Given the description of an element on the screen output the (x, y) to click on. 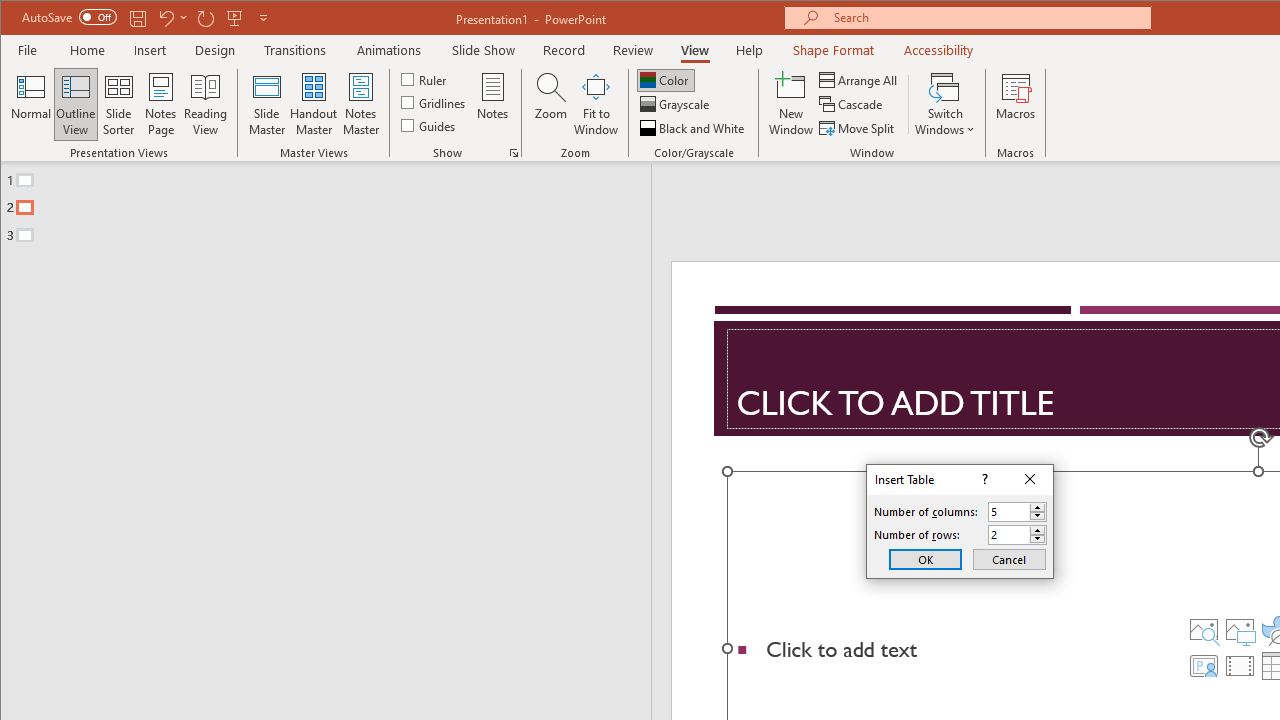
Slide Master (266, 104)
Number of rows (1009, 535)
Cancel (1009, 558)
Gridlines (435, 101)
Number of columns (1009, 512)
Notes Master (360, 104)
